Given the description of an element on the screen output the (x, y) to click on. 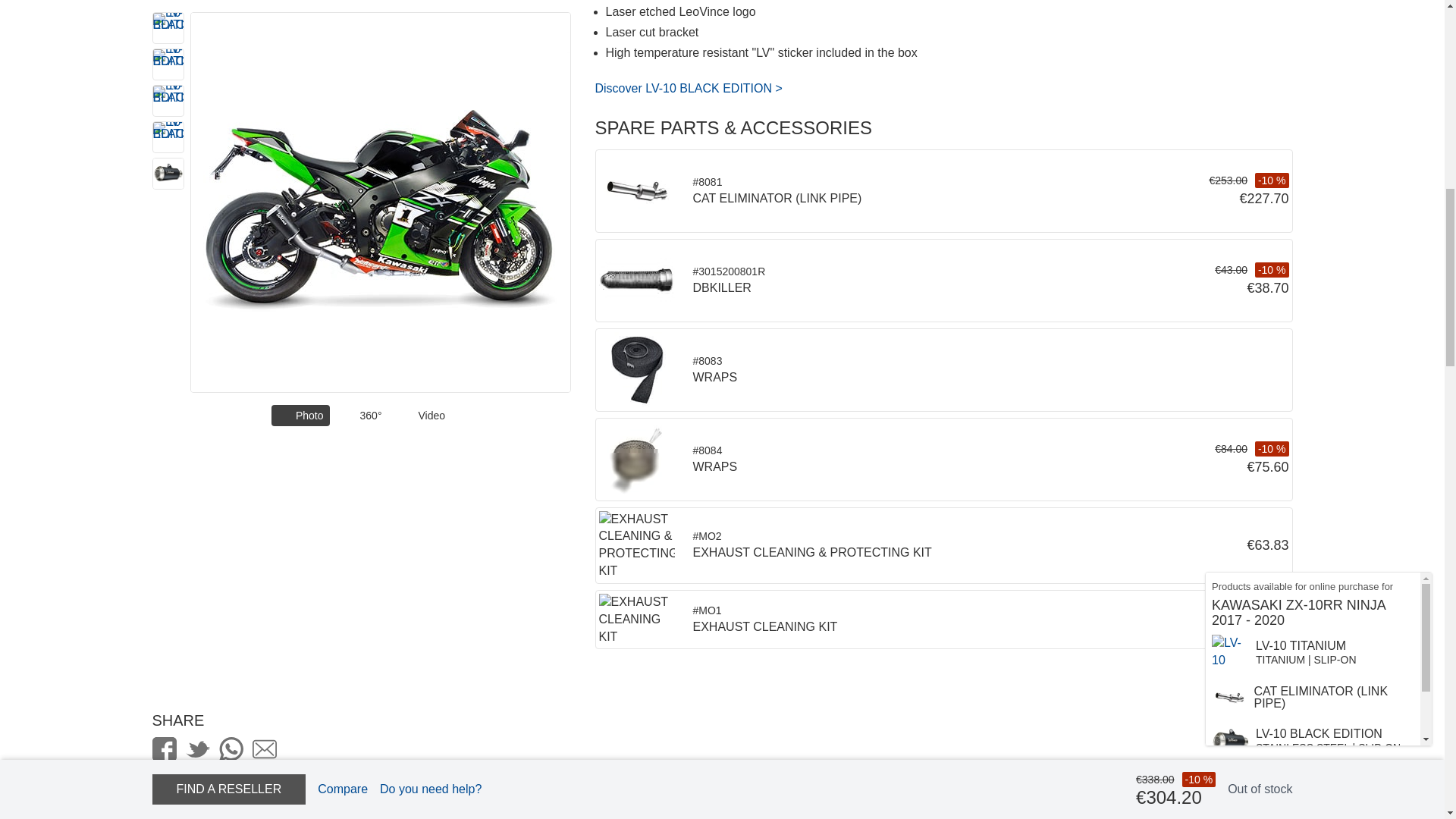
Wraps For Kawasaki Zx-10rr Ninja 2017 - 2020 (636, 369)
Exhaust Cleaning Kit For Kawasaki Zx-10rr Ninja 2017 - 2020 (636, 619)
Dbkiller For Kawasaki Zx-10rr Ninja 2017 - 2020 (636, 280)
Wraps For Kawasaki Zx-10rr Ninja 2017 - 2020 (636, 459)
